Given the description of an element on the screen output the (x, y) to click on. 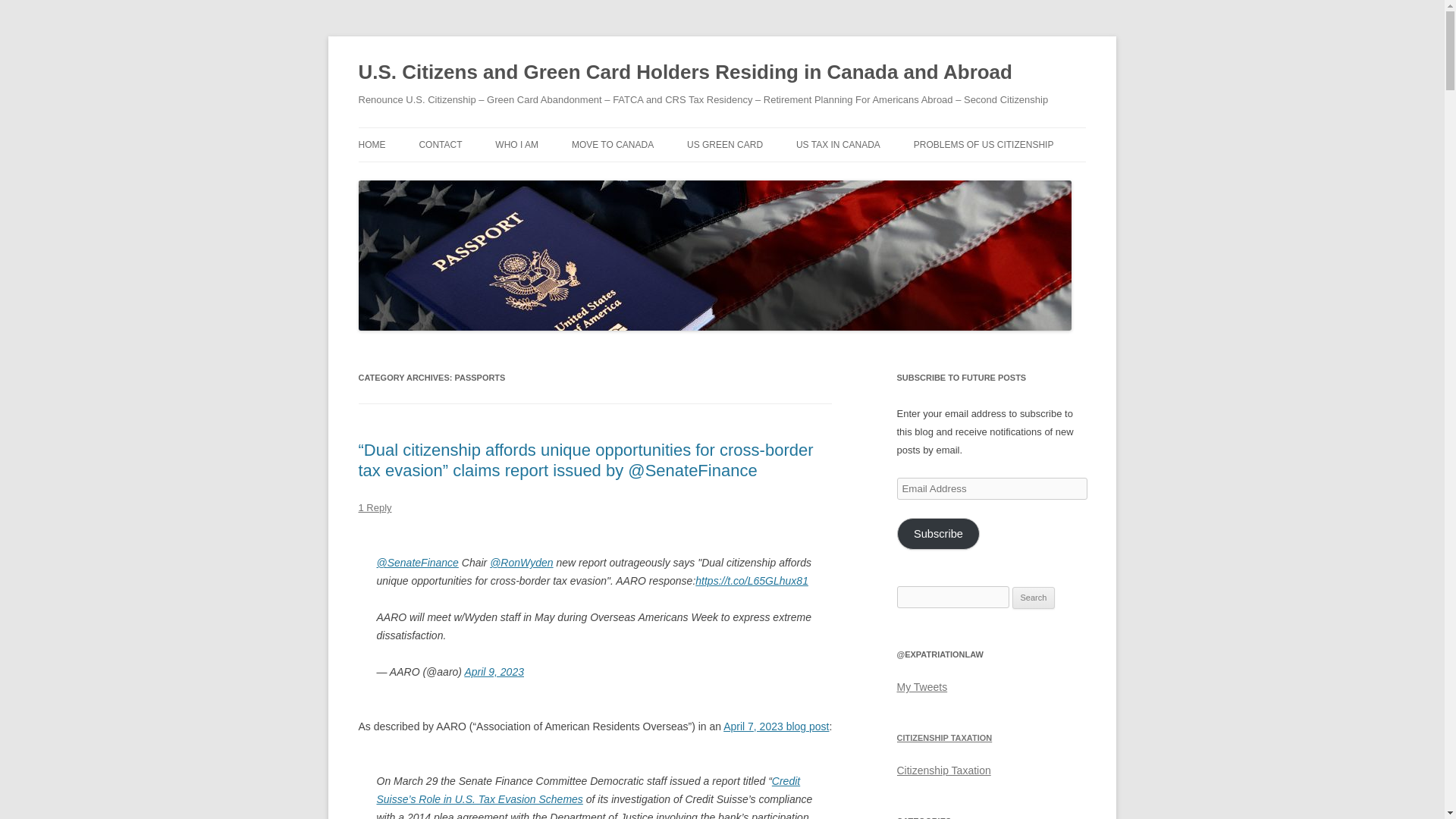
WHO I AM (516, 144)
CONTACT (440, 144)
US GREEN CARD (724, 144)
INVESTMENT MIGRATION (570, 176)
PLANNING TO BE A US TAX RESIDENT (762, 185)
MOVE TO CANADA (612, 144)
SCHEDULE APPOINTMENT (494, 176)
Search (1033, 598)
US TAX IN CANADA (838, 144)
FROM US TO CANADA (647, 176)
